Given the description of an element on the screen output the (x, y) to click on. 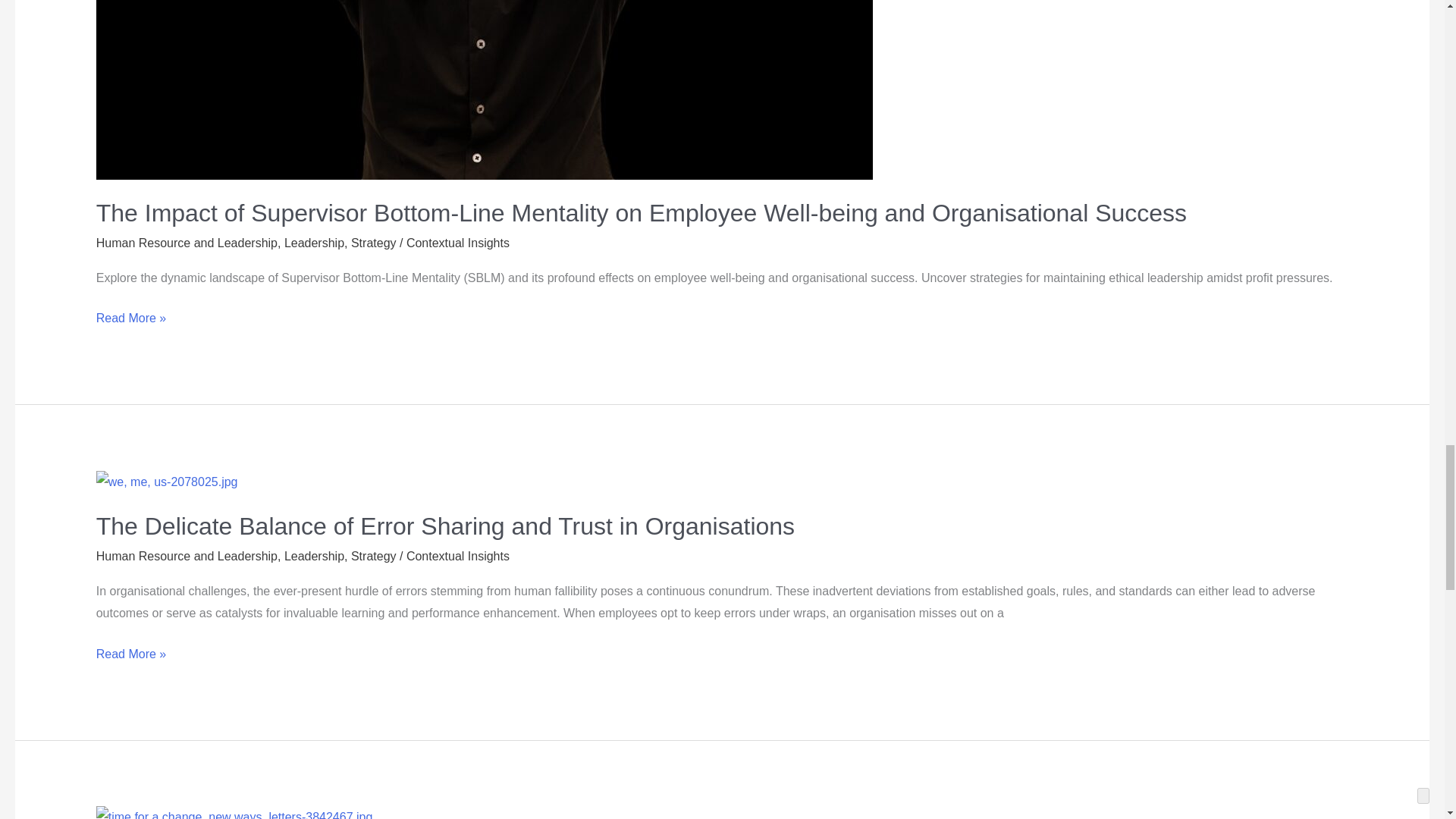
View all posts by Contextual Insights (457, 242)
View all posts by Contextual Insights (457, 555)
